Given the description of an element on the screen output the (x, y) to click on. 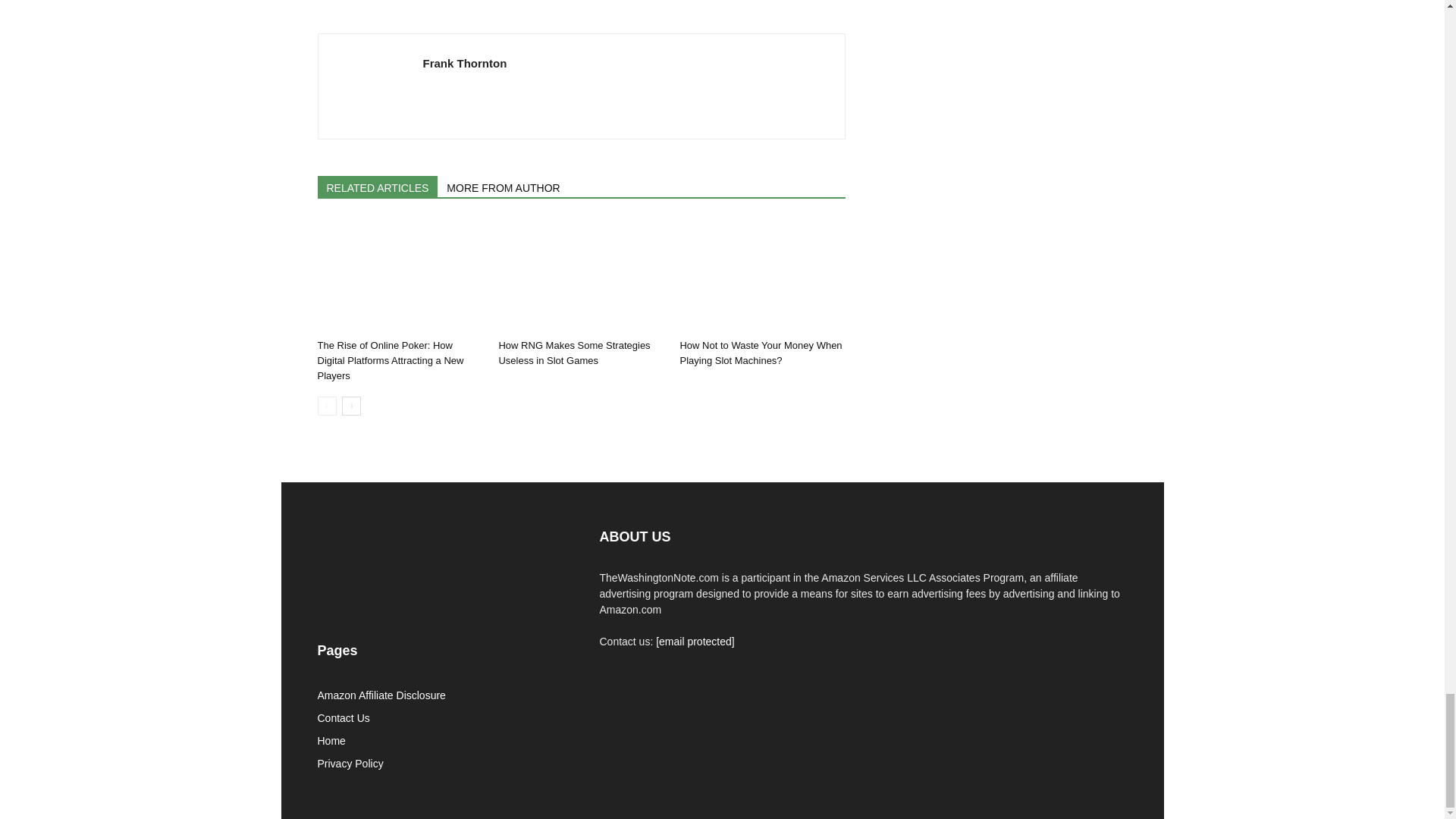
How RNG Makes Some Strategies Useless in Slot Games (573, 352)
How RNG Makes Some Strategies Useless in Slot Games (580, 275)
How Not to Waste Your Money When Playing Slot Machines? (761, 275)
How Not to Waste Your Money When Playing Slot Machines? (760, 352)
